Given the description of an element on the screen output the (x, y) to click on. 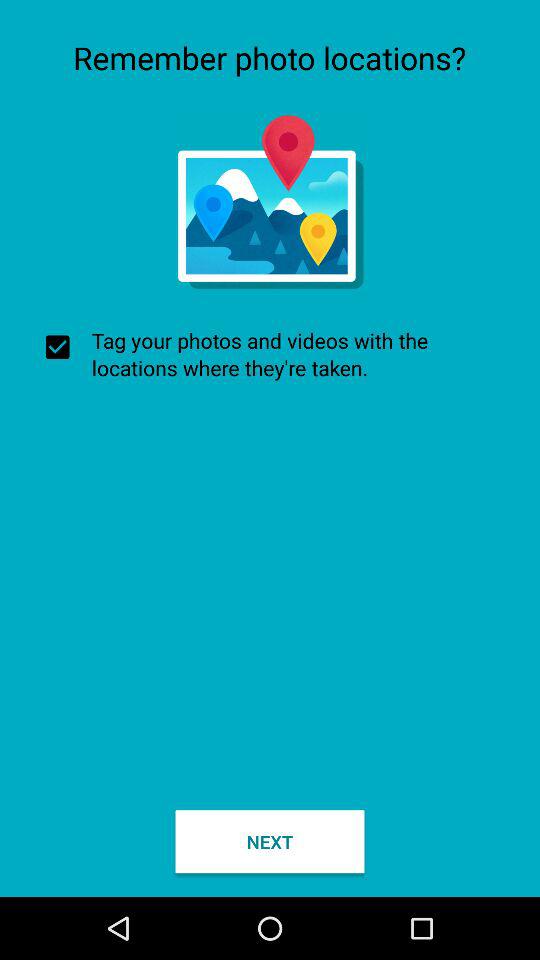
flip to tag your photos icon (269, 354)
